Given the description of an element on the screen output the (x, y) to click on. 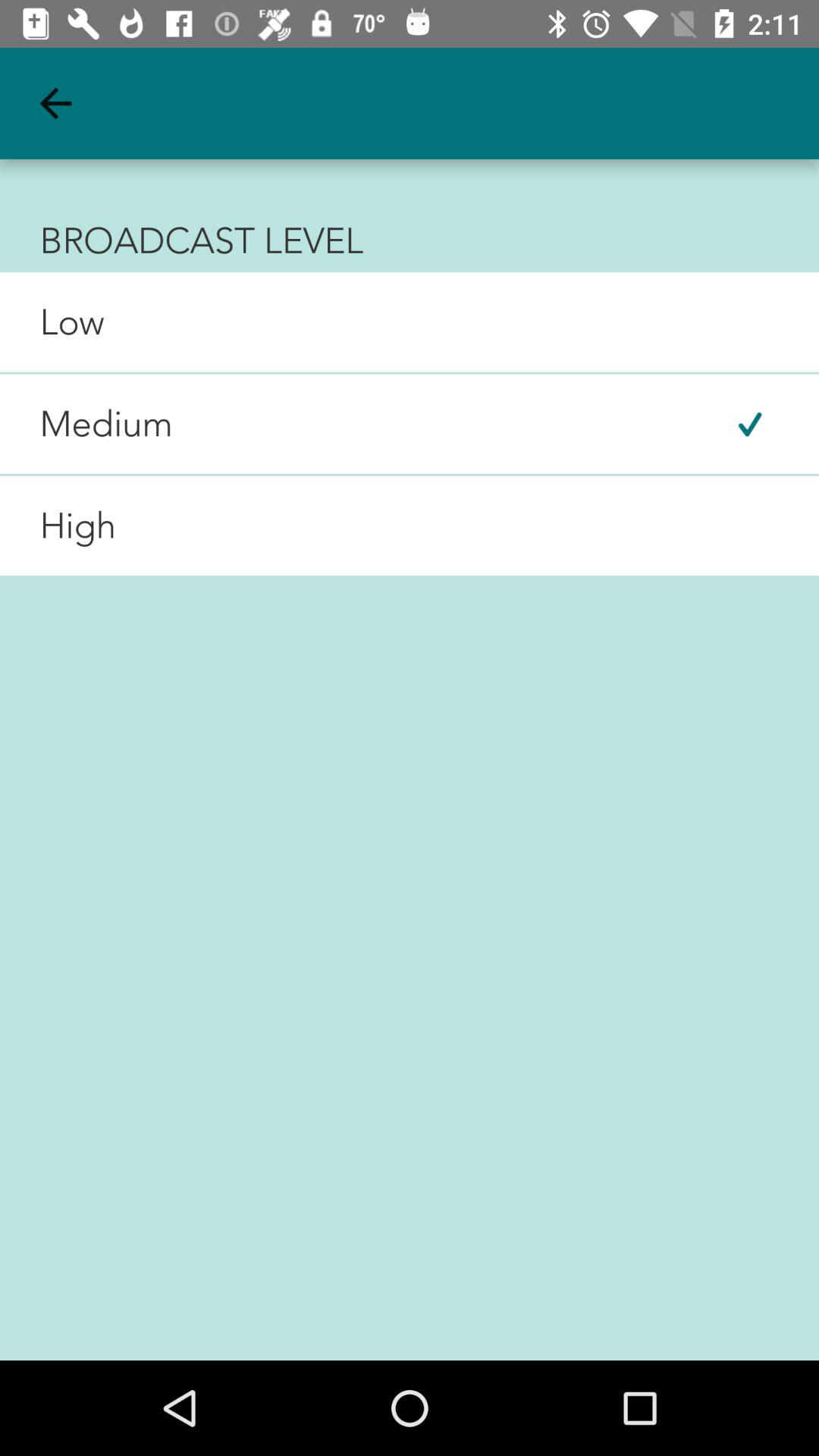
launch the item below medium item (58, 525)
